Given the description of an element on the screen output the (x, y) to click on. 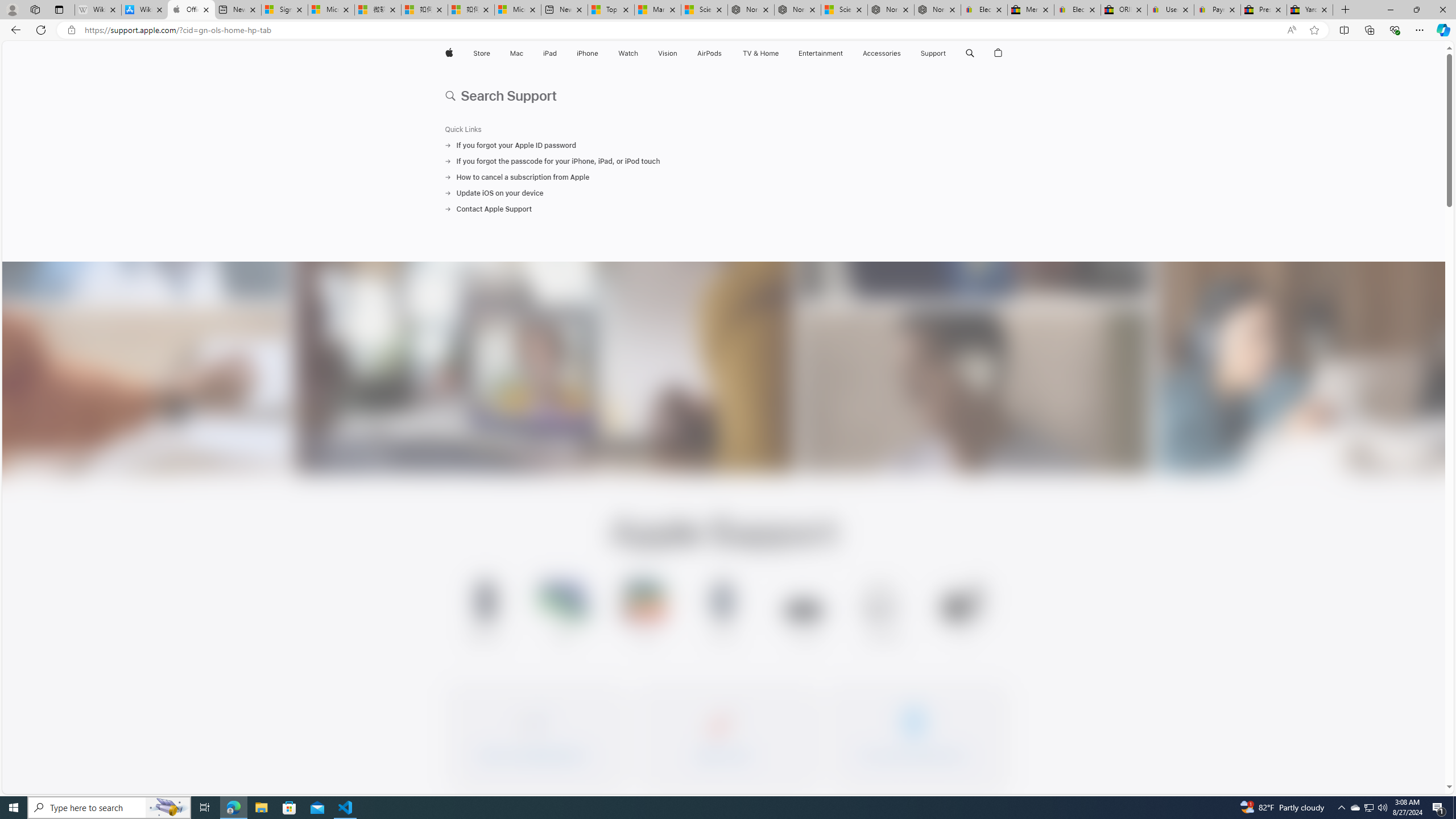
Accessories (881, 53)
iPhone (587, 53)
Mac (516, 53)
Apple Watch Support (724, 612)
Store (481, 53)
AutomationID: globalnav-bag (998, 53)
